Given the description of an element on the screen output the (x, y) to click on. 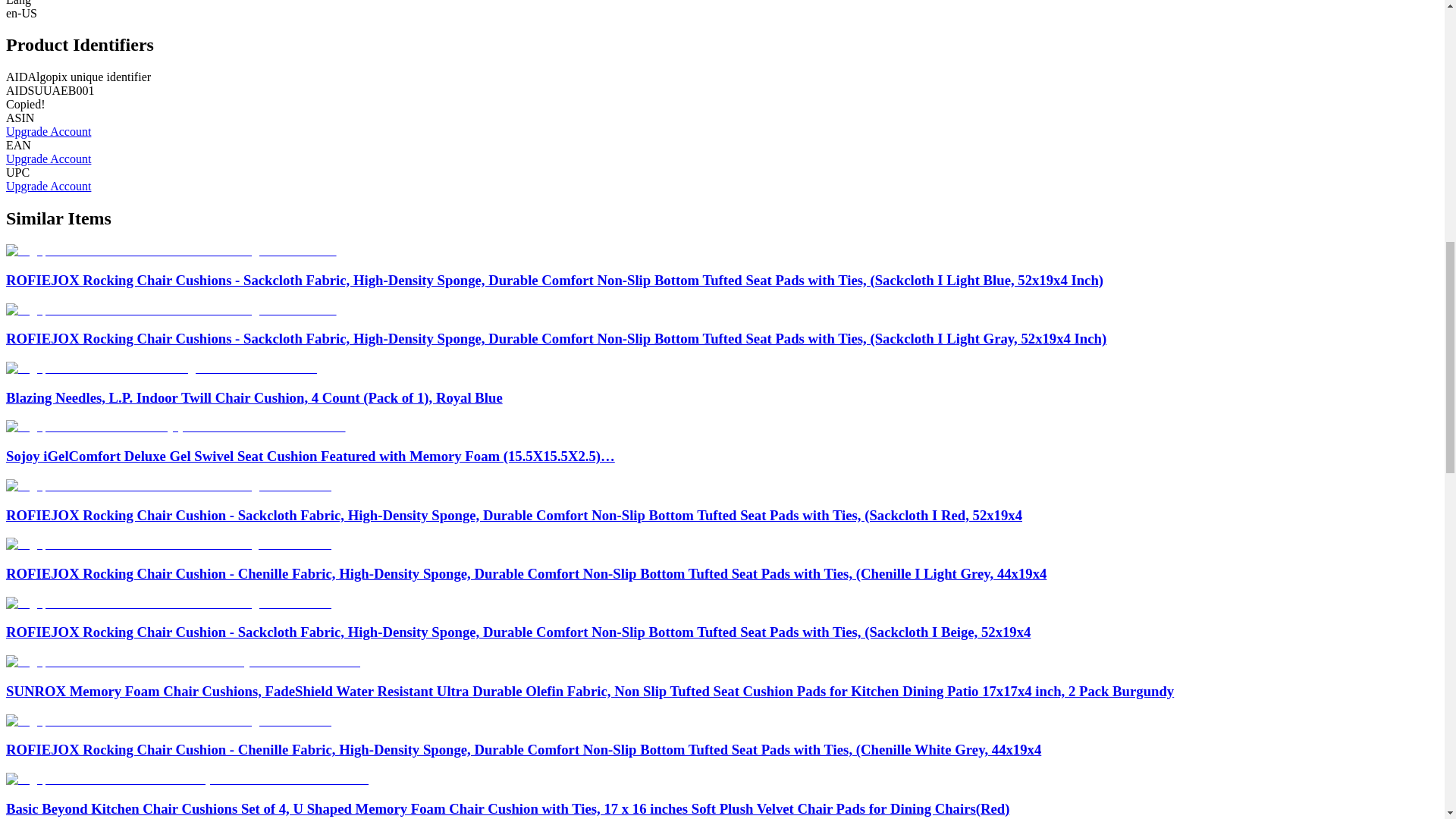
Upgrade Account (47, 131)
Upgrade Account (47, 158)
Upgrade Account (47, 185)
